Given the description of an element on the screen output the (x, y) to click on. 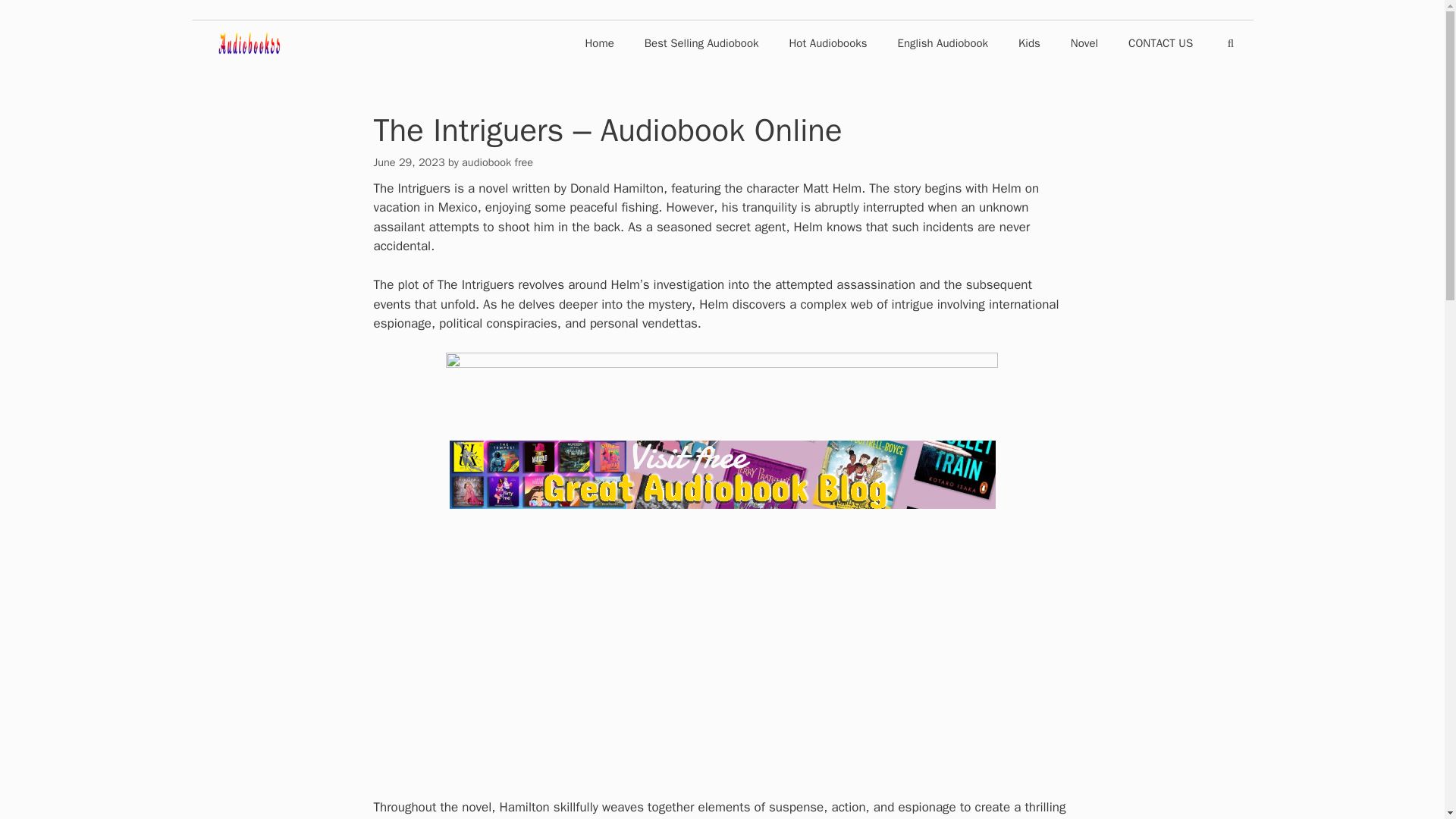
Home (598, 42)
Kids (1029, 42)
YouTube video player (721, 653)
View all posts by audiobook free (496, 161)
Best Selling Audiobook (701, 42)
Hot Audiobooks (827, 42)
Novel (1084, 42)
English Audiobook (943, 42)
CONTACT US (1160, 42)
audiobook free (496, 161)
